Given the description of an element on the screen output the (x, y) to click on. 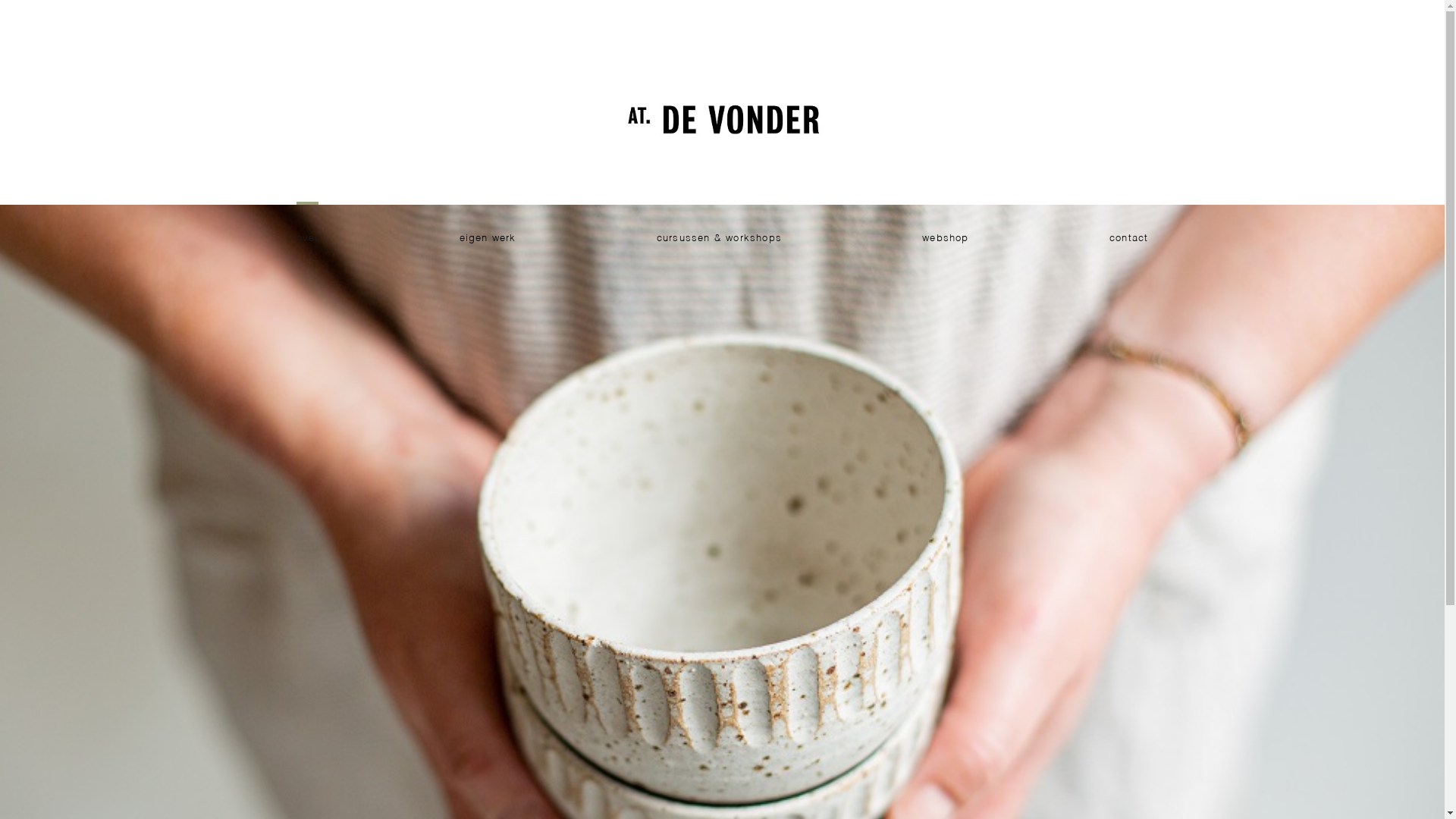
contact Element type: text (1128, 238)
cursussen & workshops Element type: text (718, 238)
over Element type: text (307, 238)
eigen werk Element type: text (487, 238)
webshop Element type: text (945, 238)
